Given the description of an element on the screen output the (x, y) to click on. 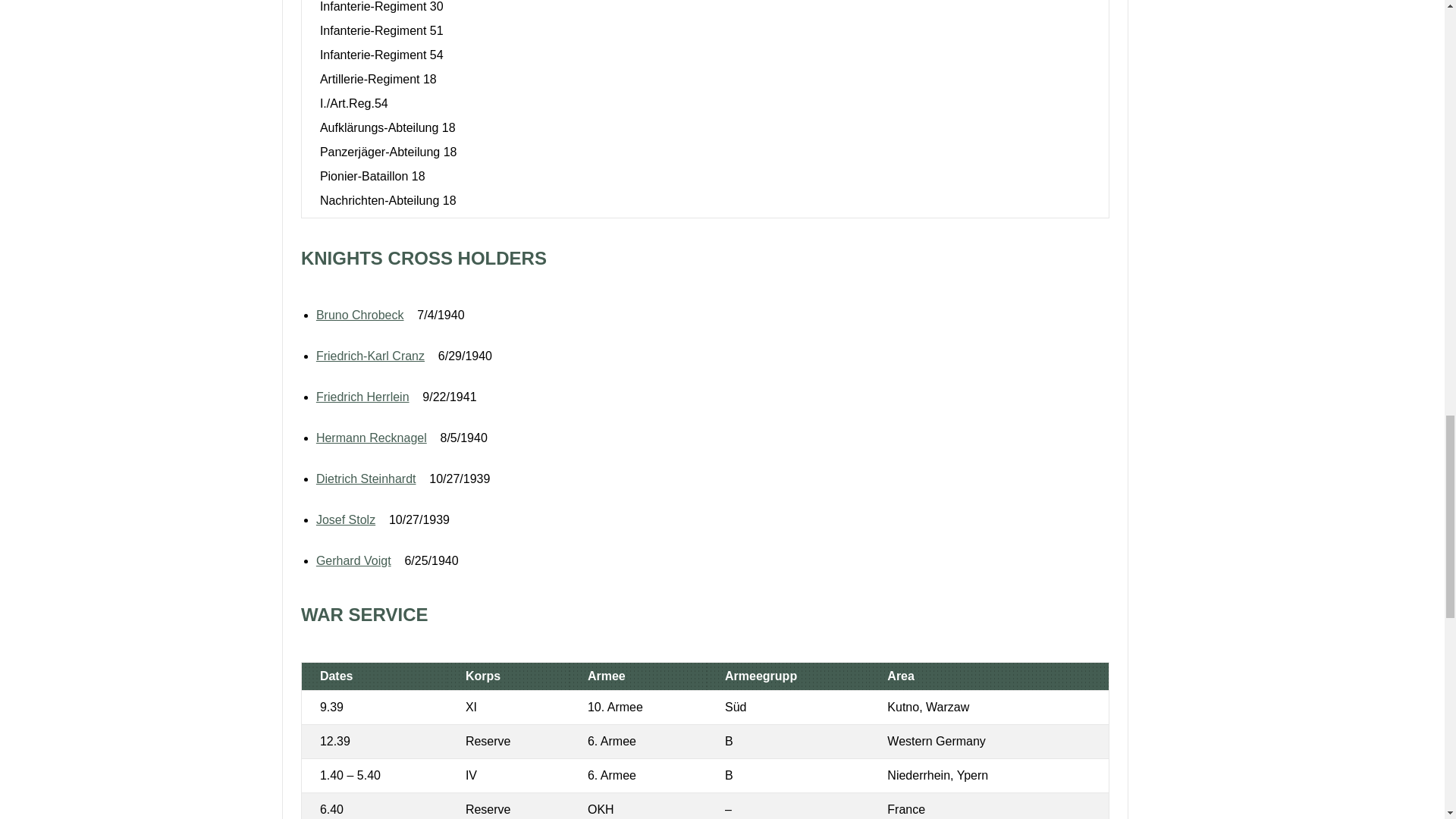
Josef Stolz (345, 519)
Dietrich Steinhardt (365, 478)
Gerhard Voigt (353, 560)
Bruno Chrobeck (359, 314)
Friedrich Herrlein (362, 396)
Hermann Recknagel (370, 437)
Friedrich-Karl Cranz (370, 355)
